Given the description of an element on the screen output the (x, y) to click on. 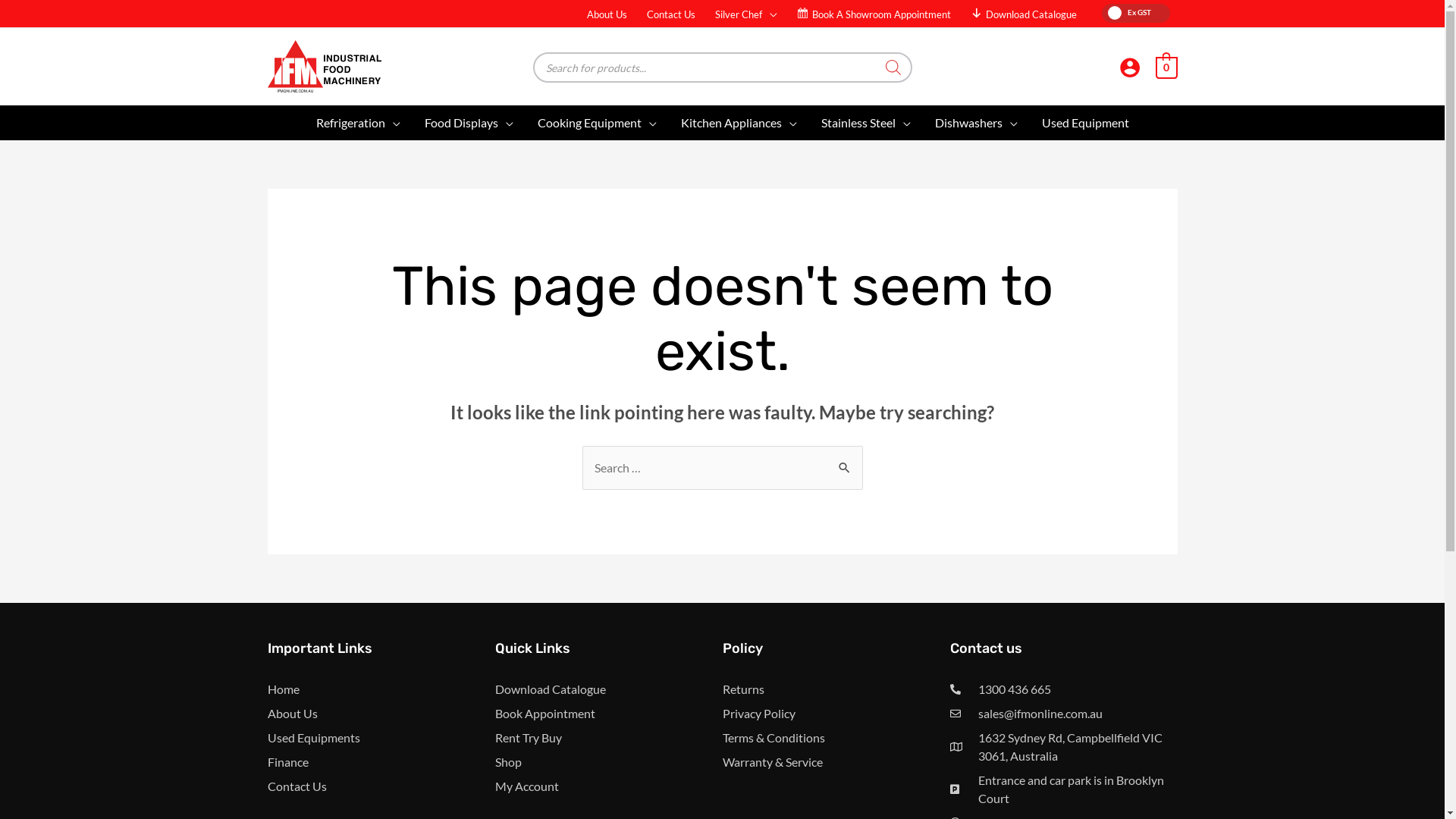
1300 436 665 Element type: text (1062, 689)
sales@ifmonline.com.au Element type: text (1062, 713)
1632 Sydney Rd, Campbellfield VIC 3061, Australia Element type: text (1062, 746)
Contact Us Element type: text (380, 786)
Download Catalogue Element type: text (1023, 14)
Search Element type: text (845, 460)
Download Catalogue Element type: text (607, 689)
Used Equipments Element type: text (380, 737)
Terms & Conditions Element type: text (835, 737)
Warranty & Service Element type: text (835, 762)
My Account Element type: text (607, 786)
Shop Element type: text (607, 762)
Stainless Steel Element type: text (865, 122)
Used Equipment Element type: text (1085, 122)
Finance Element type: text (380, 762)
Refrigeration Element type: text (357, 122)
Book A Showroom Appointment Element type: text (873, 14)
Returns Element type: text (835, 689)
Contact Us Element type: text (671, 14)
Rent Try Buy Element type: text (607, 737)
Silver Chef Element type: text (746, 14)
Home Element type: text (380, 689)
Privacy Policy Element type: text (835, 713)
Kitchen Appliances Element type: text (738, 122)
Cooking Equipment Element type: text (596, 122)
About Us Element type: text (380, 713)
About Us Element type: text (607, 14)
Dishwashers Element type: text (975, 122)
Food Displays Element type: text (468, 122)
0 Element type: text (1166, 66)
Book Appointment Element type: text (607, 713)
